Given the description of an element on the screen output the (x, y) to click on. 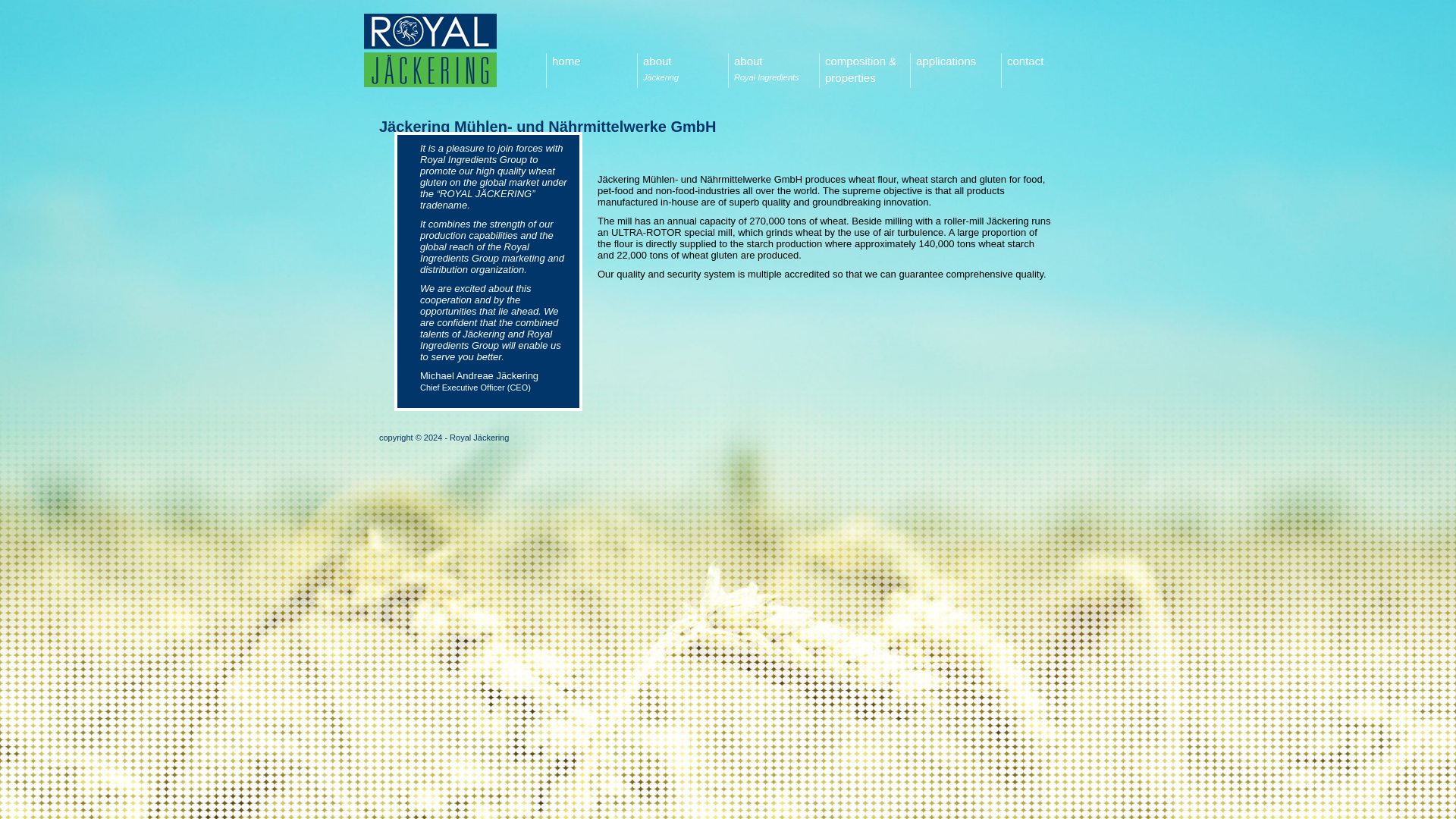
contact (1046, 70)
home (591, 70)
applications (773, 70)
